Given the description of an element on the screen output the (x, y) to click on. 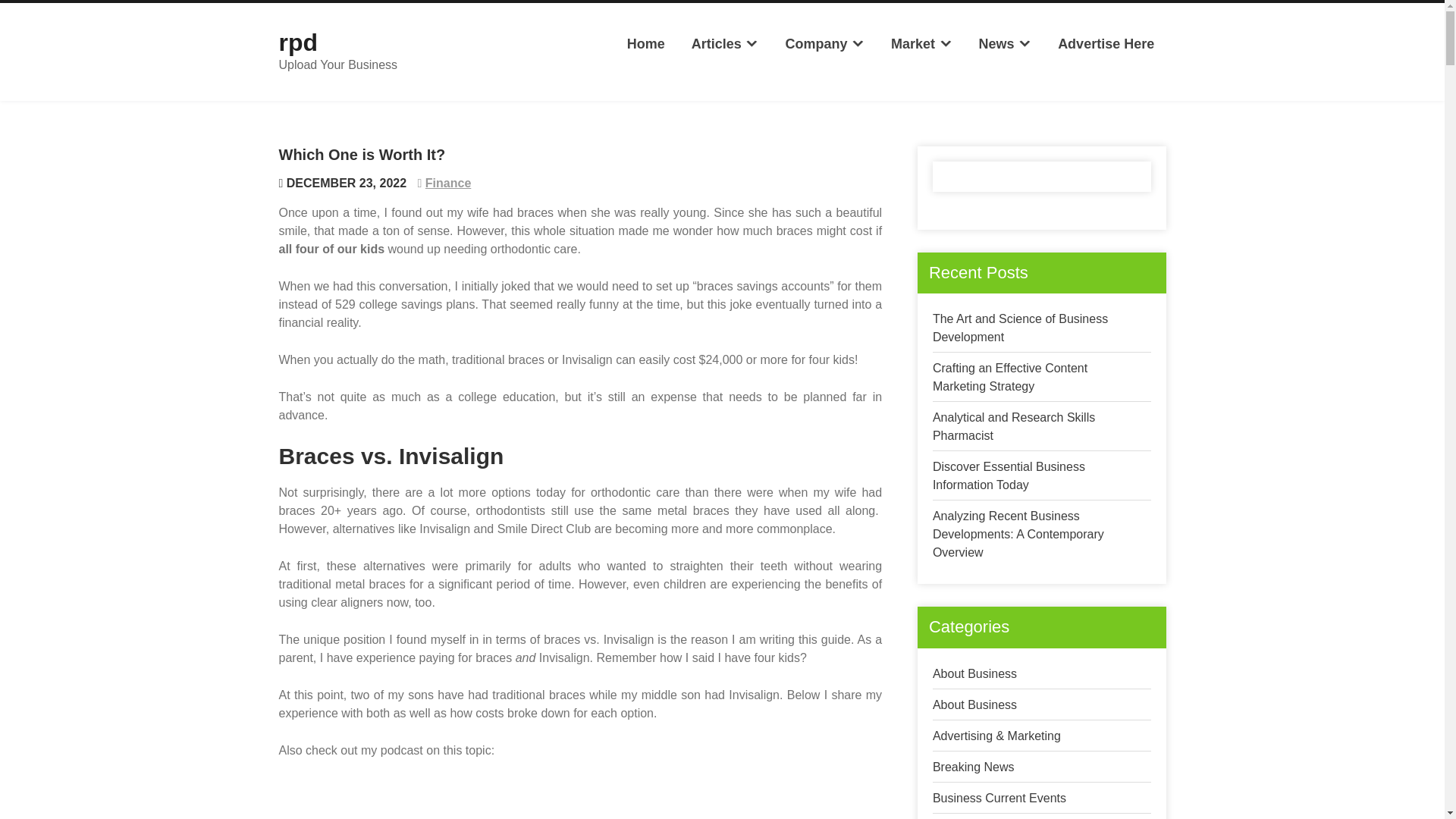
Advertise Here (1106, 44)
Home (645, 44)
Articles (724, 44)
rpd (298, 42)
Market (921, 44)
Company (824, 44)
Finance (447, 182)
News (1004, 44)
